Given the description of an element on the screen output the (x, y) to click on. 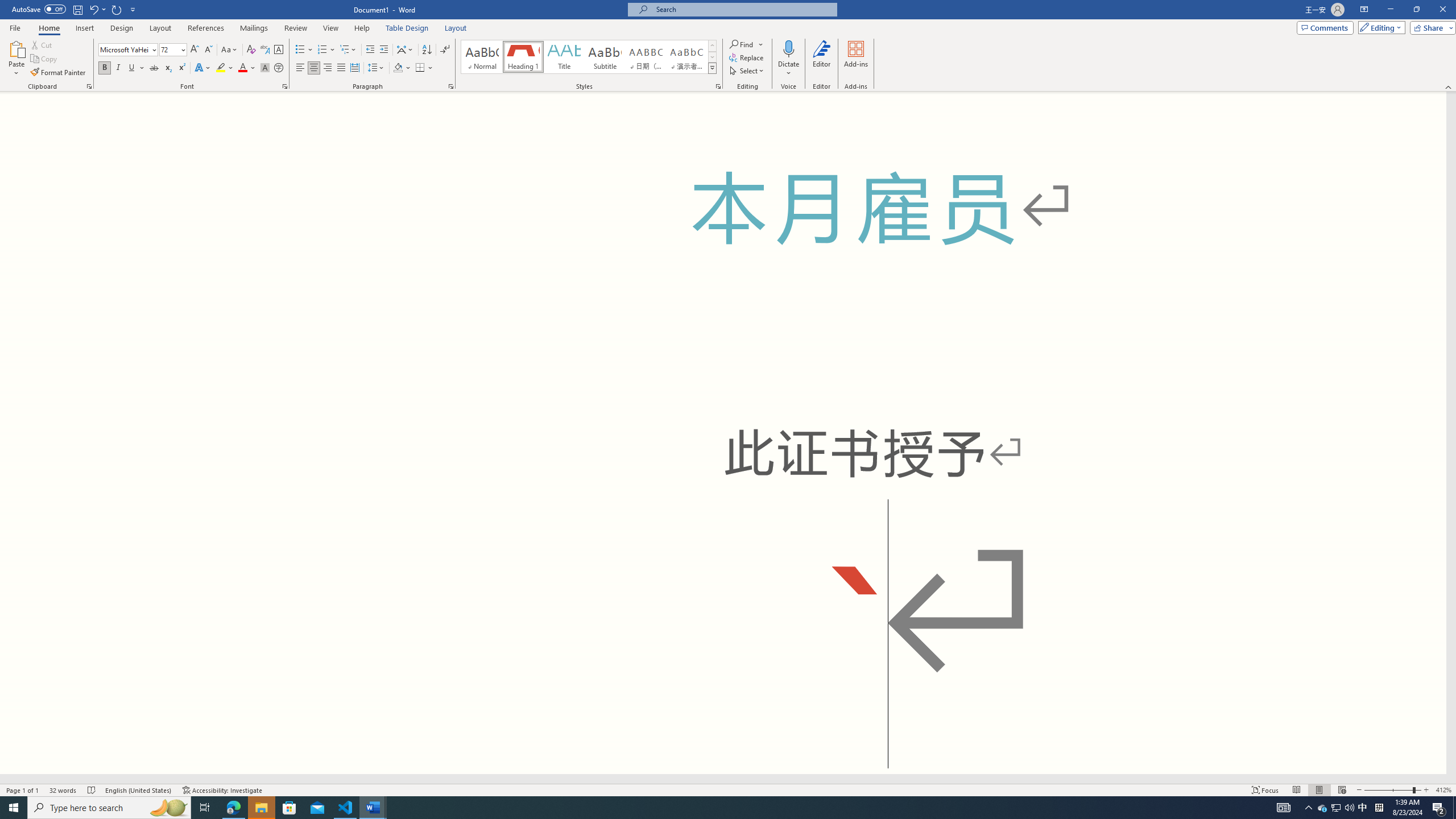
Spelling and Grammar Check No Errors (91, 790)
Undo Grow Font (92, 9)
